Given the description of an element on the screen output the (x, y) to click on. 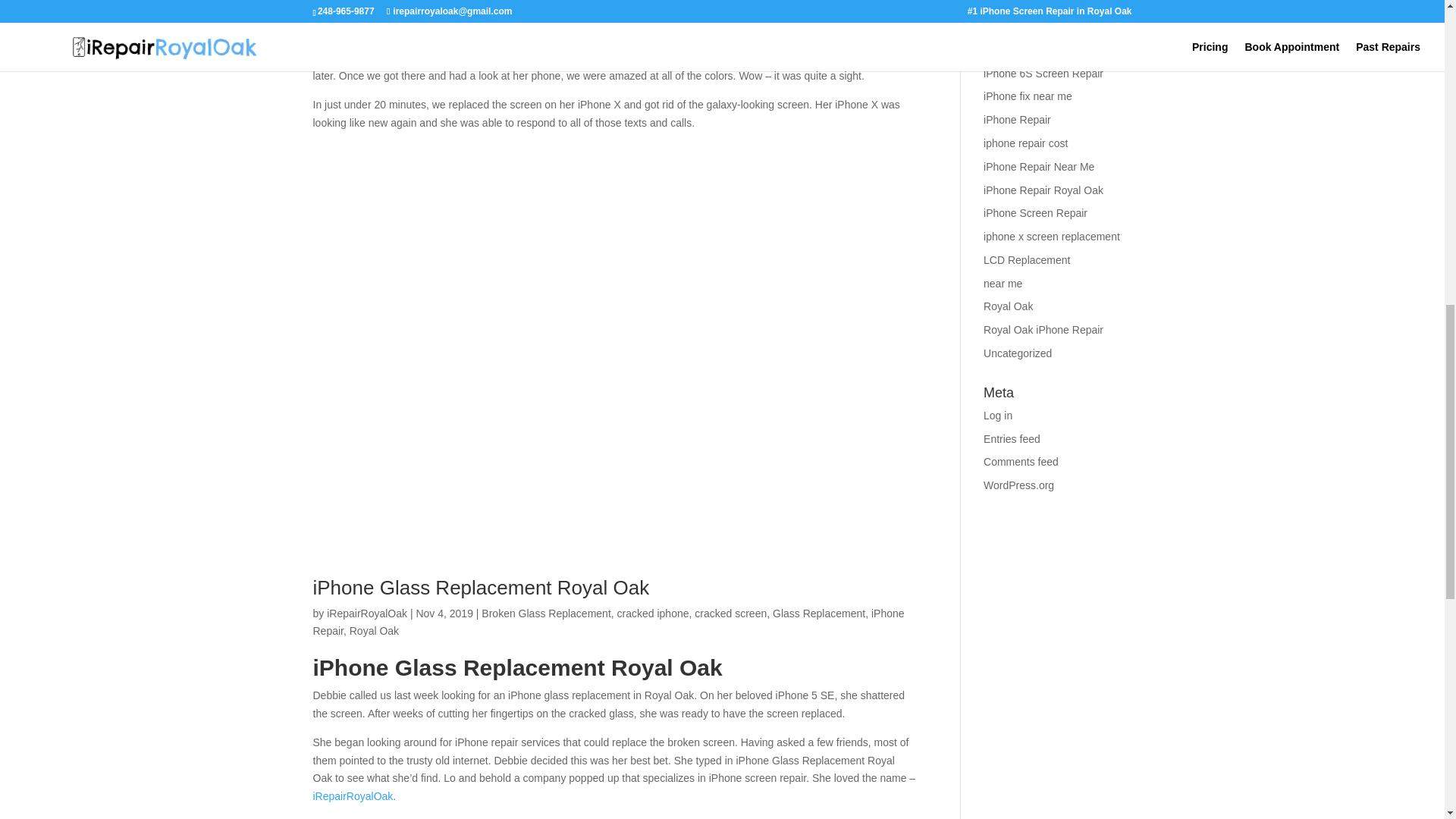
Royal Oak (373, 630)
cracked screen (730, 613)
iRepairRoyalOak (353, 796)
iPhone Repair (608, 622)
Broken Glass Replacement (545, 613)
coffee shop (666, 58)
cracked iphone (652, 613)
Glass Replacement (818, 613)
Posts by iRepairRoyalOak (366, 613)
iPhone Glass Replacement Royal Oak (481, 587)
iRepairRoyalOak (366, 613)
